Given the description of an element on the screen output the (x, y) to click on. 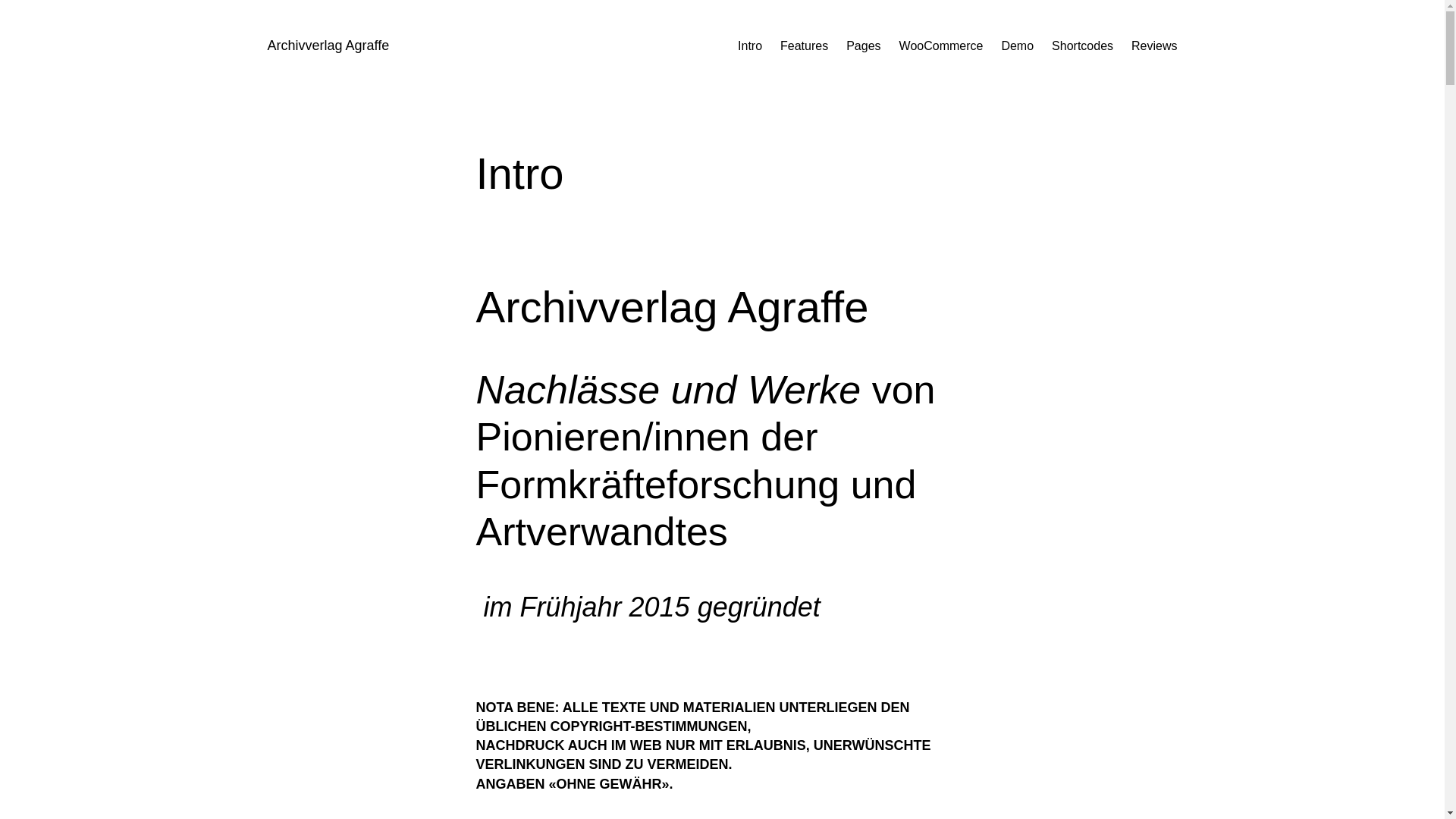
Features Element type: text (804, 46)
Demo Element type: text (1017, 46)
Reviews Element type: text (1153, 46)
Shortcodes Element type: text (1082, 46)
Intro Element type: text (749, 46)
WooCommerce Element type: text (941, 46)
Archivverlag Agraffe Element type: text (327, 45)
Pages Element type: text (863, 46)
